Given the description of an element on the screen output the (x, y) to click on. 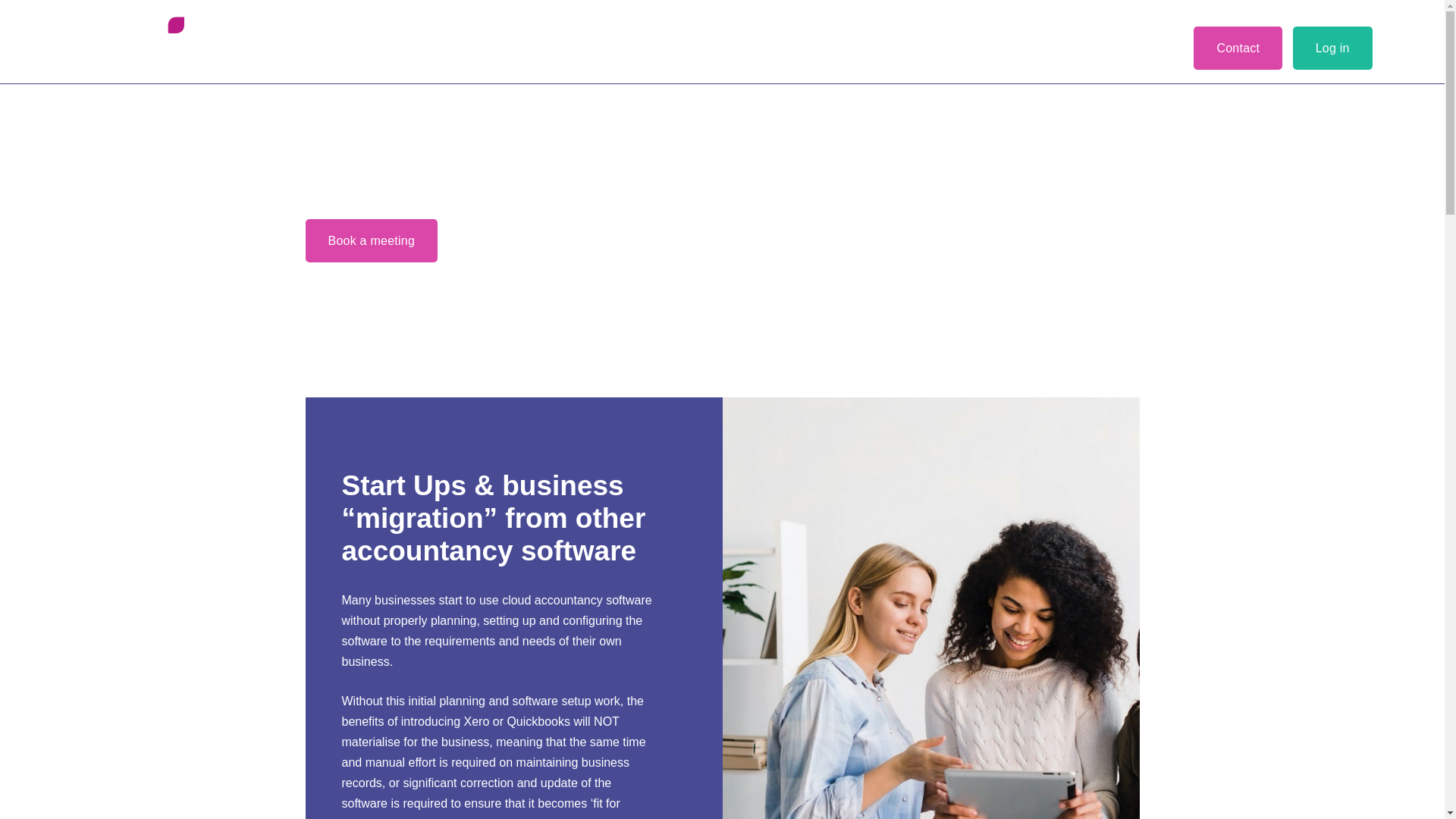
Services (231, 40)
Testimonials (661, 40)
News (737, 40)
Our Solutions (319, 40)
Company (409, 40)
